Given the description of an element on the screen output the (x, y) to click on. 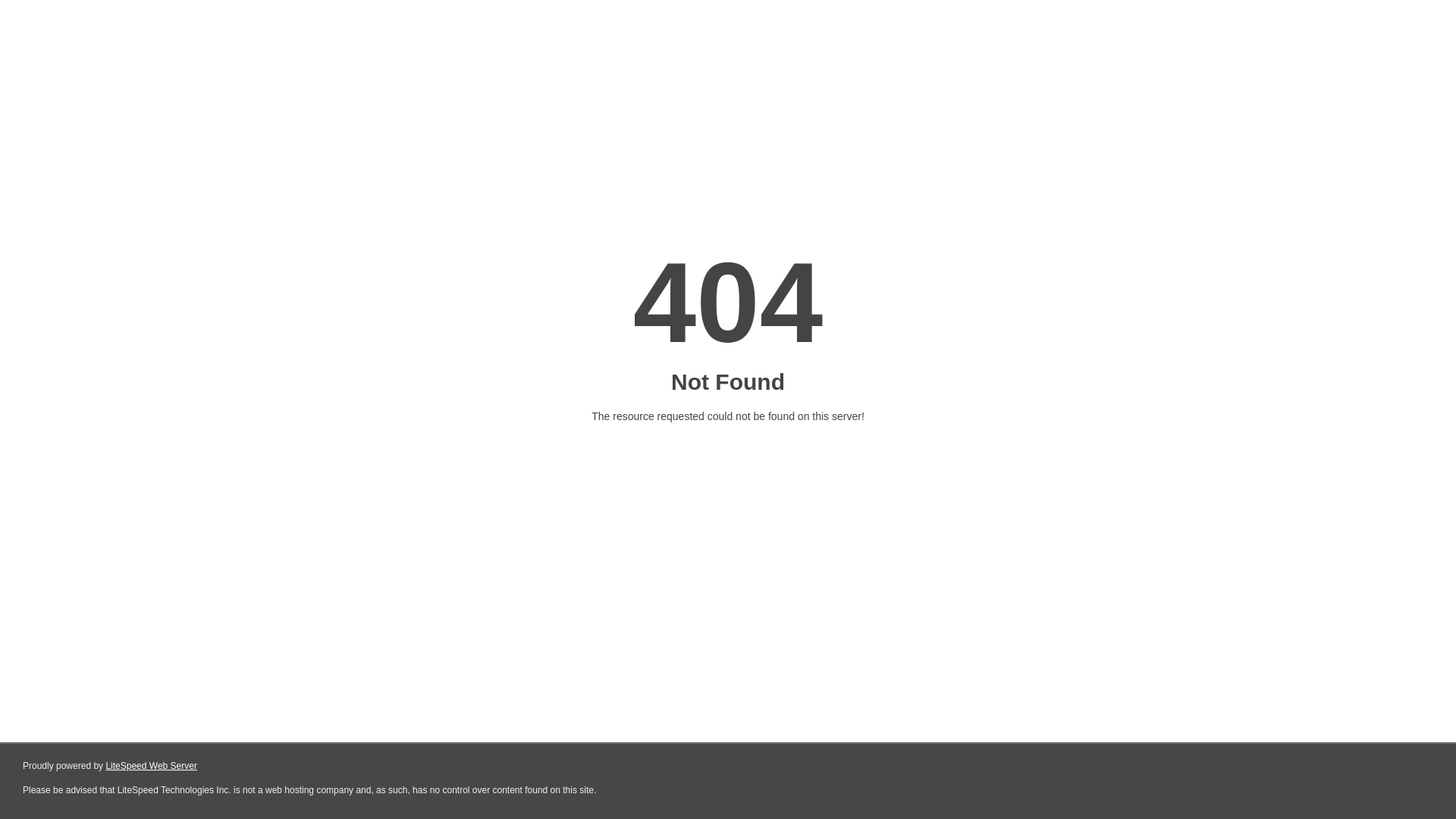
LiteSpeed Web Server Element type: text (151, 765)
